Given the description of an element on the screen output the (x, y) to click on. 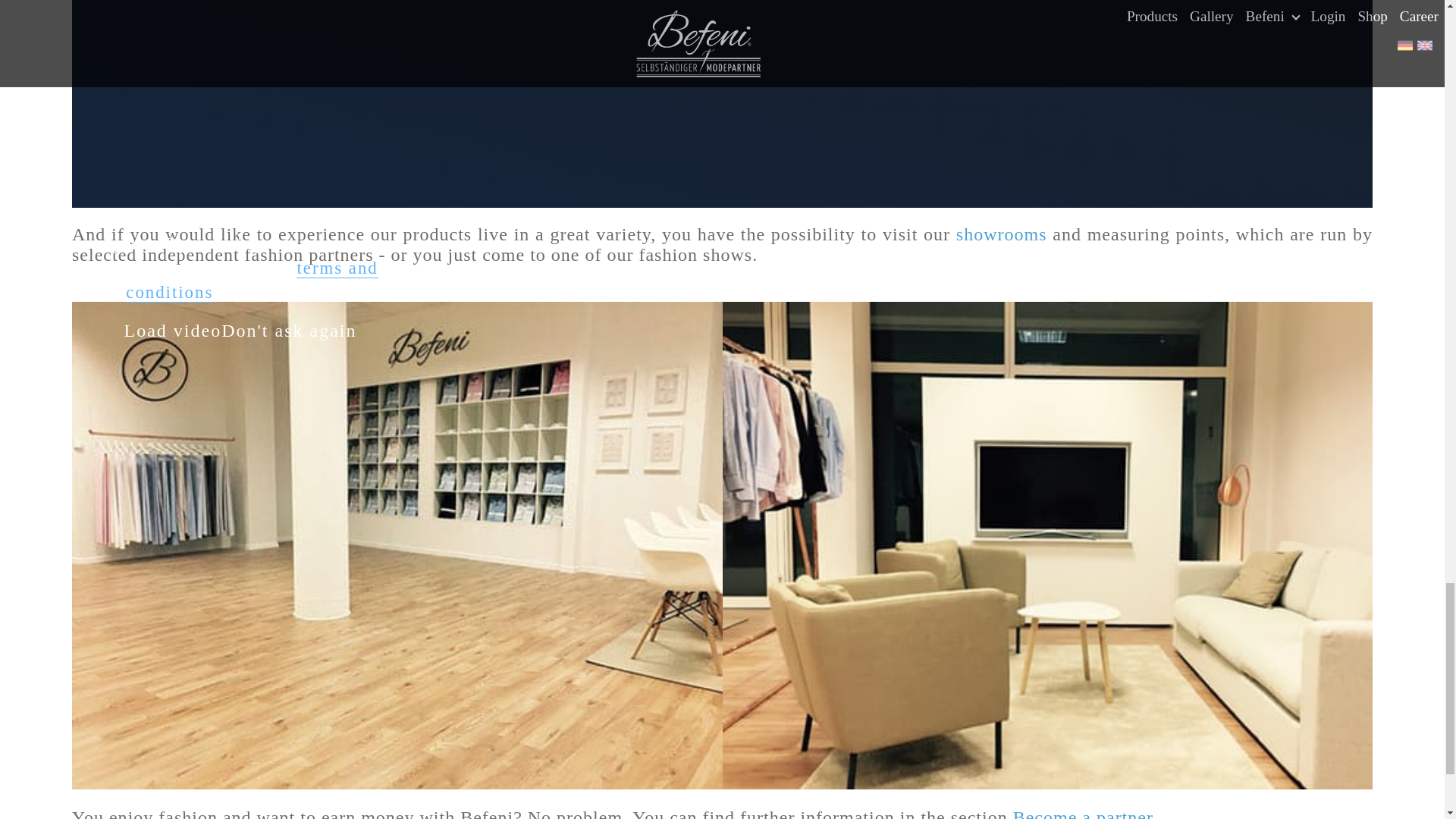
Load video (172, 331)
showrooms (1001, 234)
Terms and conditions (251, 280)
Become a partner (1083, 813)
terms and conditions (251, 280)
Don't ask again (288, 331)
